Given the description of an element on the screen output the (x, y) to click on. 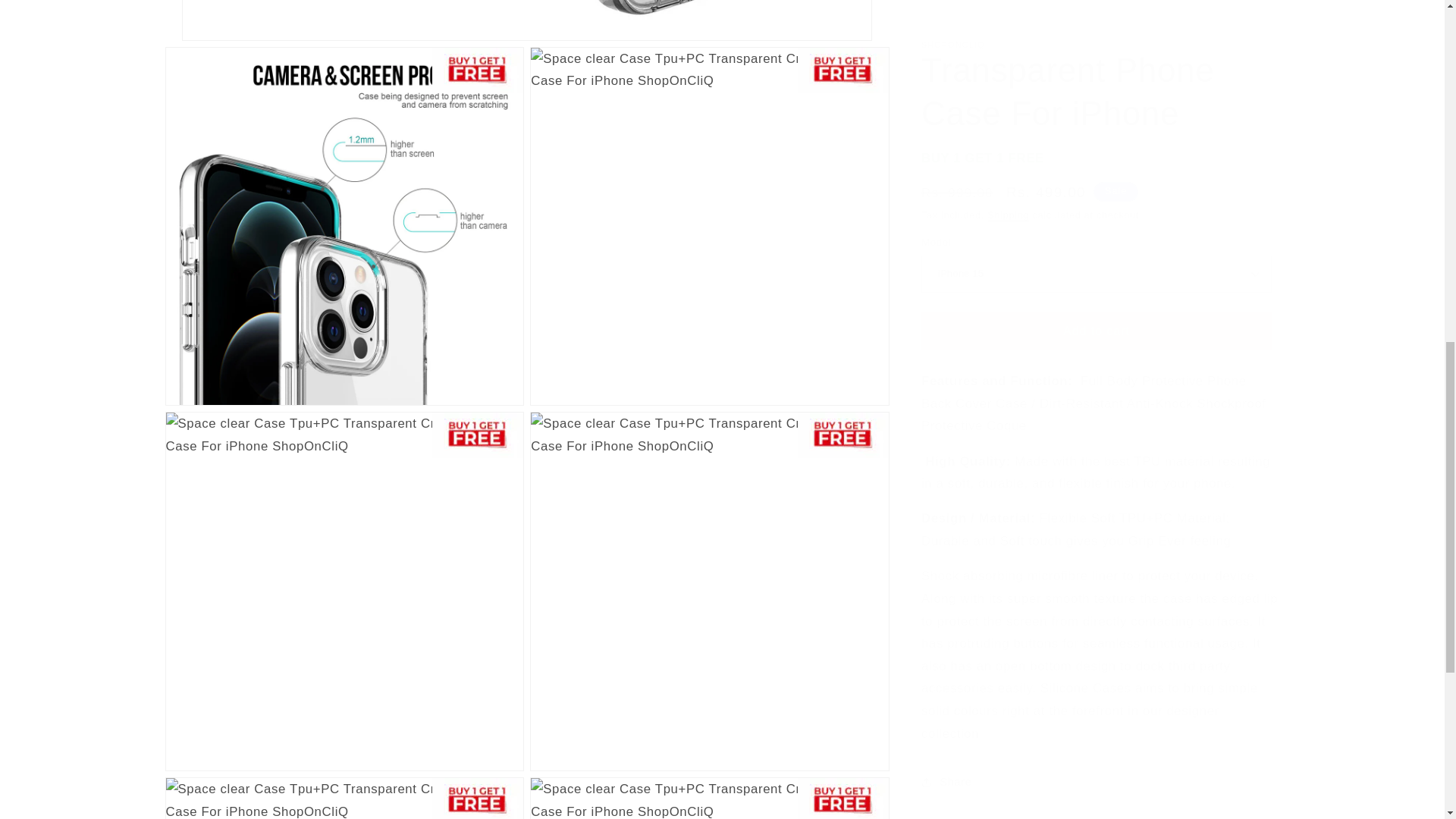
Open media 7 in modal (709, 790)
Open media 2 in modal (344, 210)
Open media 6 in modal (344, 790)
Open media 5 in modal (709, 575)
Open media 1 in modal (527, 12)
Open media 3 in modal (709, 210)
Open media 4 in modal (344, 575)
